Given the description of an element on the screen output the (x, y) to click on. 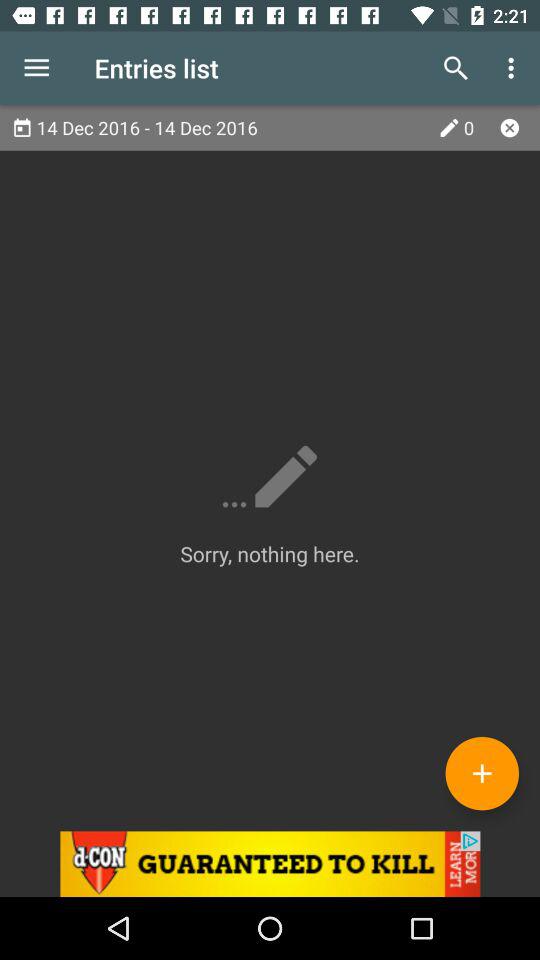
x (509, 127)
